Given the description of an element on the screen output the (x, y) to click on. 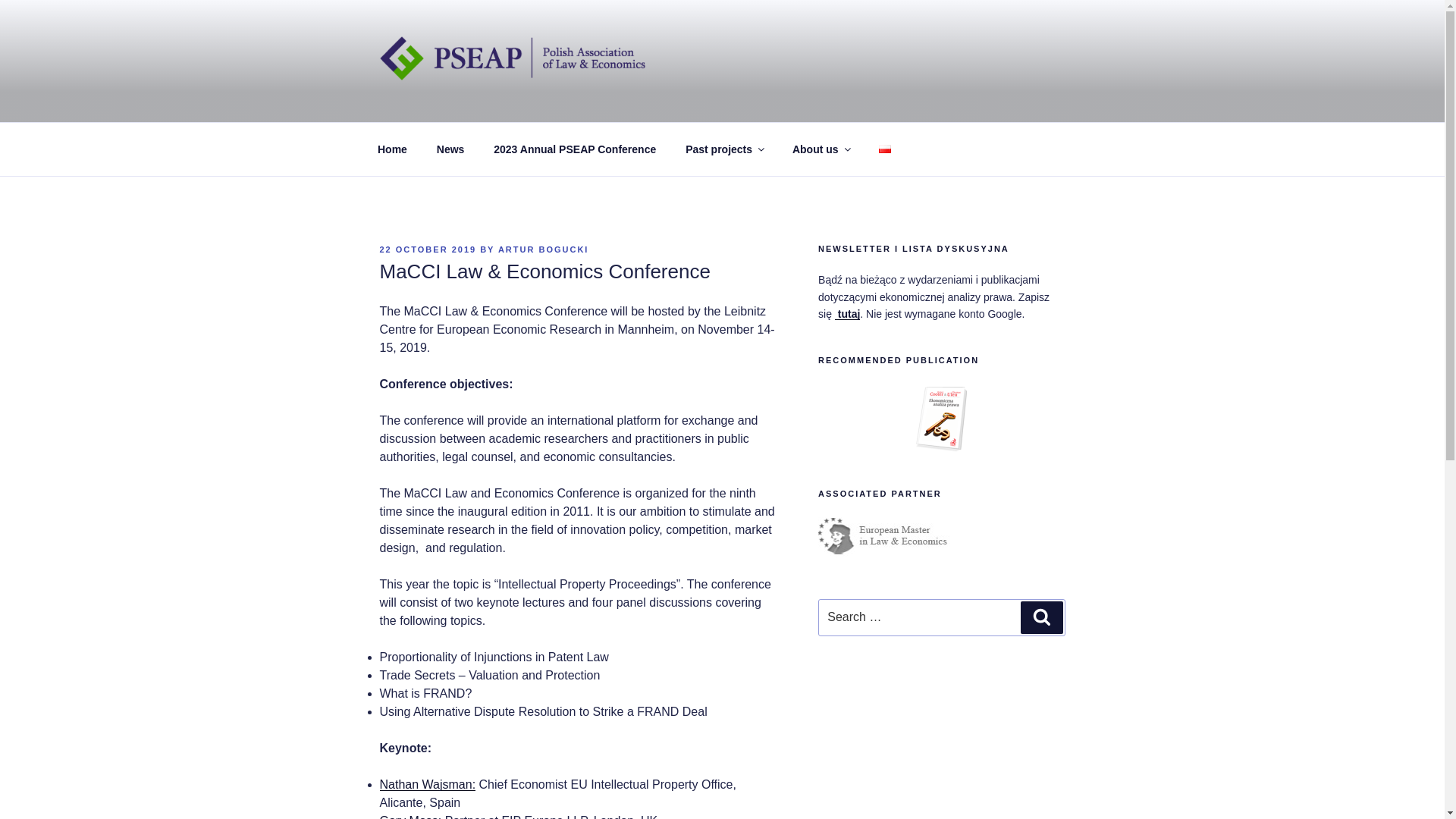
Past projects (724, 149)
PSEAP (429, 101)
tutaj (847, 313)
22 OCTOBER 2019 (427, 248)
News (450, 149)
2023 Annual PSEAP Conference (574, 149)
Show detail Gary Moss (408, 816)
ARTUR BOGUCKI (543, 248)
Home (392, 149)
